Given the description of an element on the screen output the (x, y) to click on. 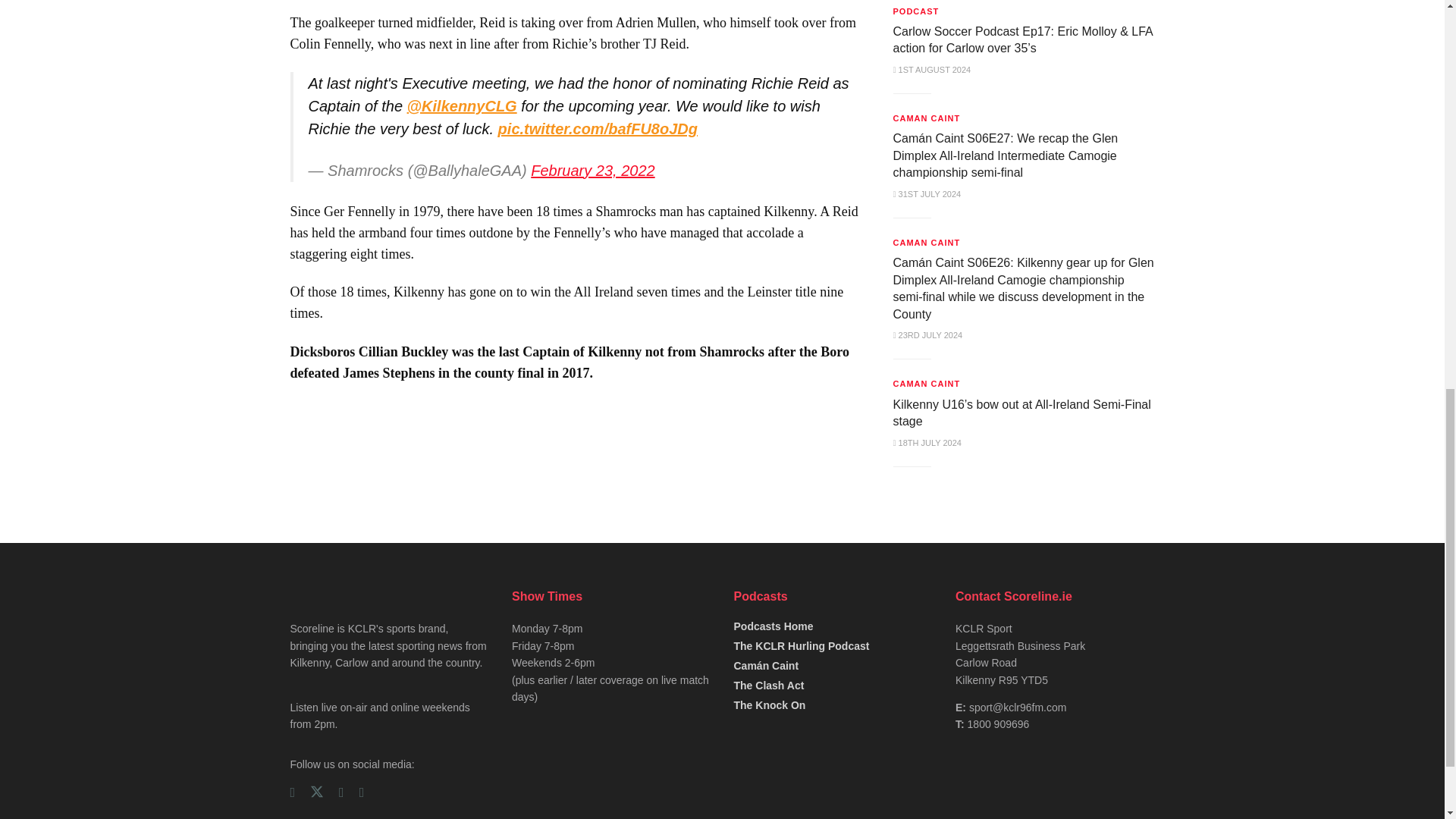
1ST AUGUST 2024 (932, 69)
February 23, 2022 (592, 170)
PODCAST (916, 11)
